Given the description of an element on the screen output the (x, y) to click on. 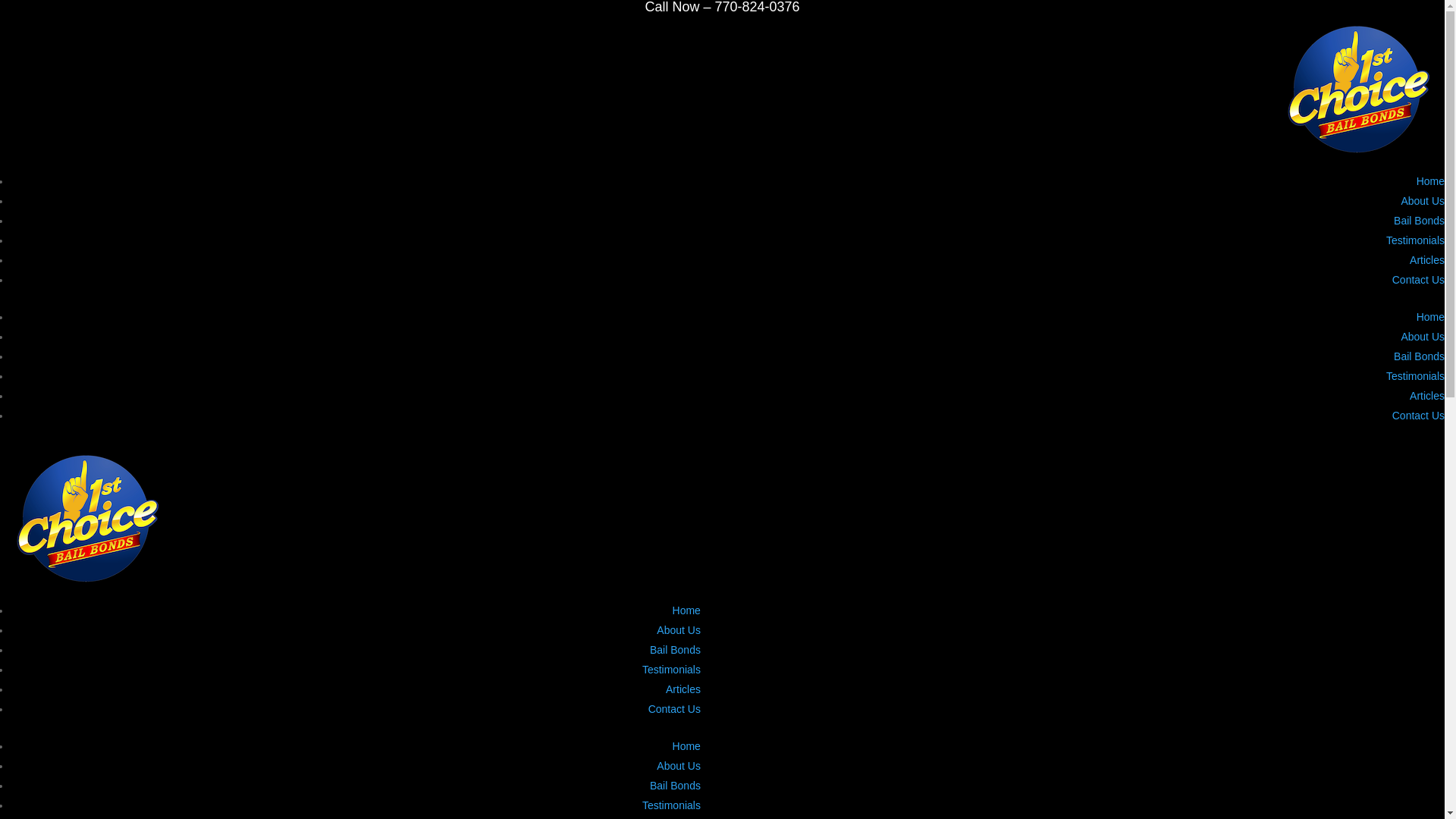
Contact Us Element type: text (1418, 279)
Testimonials Element type: text (1415, 240)
About Us Element type: text (678, 765)
Testimonials Element type: text (1415, 376)
About Us Element type: text (1422, 336)
Bail Bonds Element type: text (674, 649)
Contact Us Element type: text (1418, 415)
Articles Element type: text (682, 689)
Bail Bonds Element type: text (674, 785)
Home Element type: text (686, 610)
Testimonials Element type: text (671, 669)
Bail Bonds Element type: text (1418, 356)
Articles Element type: text (1426, 260)
Bail Bonds Element type: text (1418, 220)
Home Element type: text (686, 746)
About Us Element type: text (1422, 200)
About Us Element type: text (678, 630)
Contact Us Element type: text (674, 708)
Home Element type: text (1430, 181)
Testimonials Element type: text (671, 805)
Home Element type: text (1430, 316)
Articles Element type: text (1426, 395)
